Given the description of an element on the screen output the (x, y) to click on. 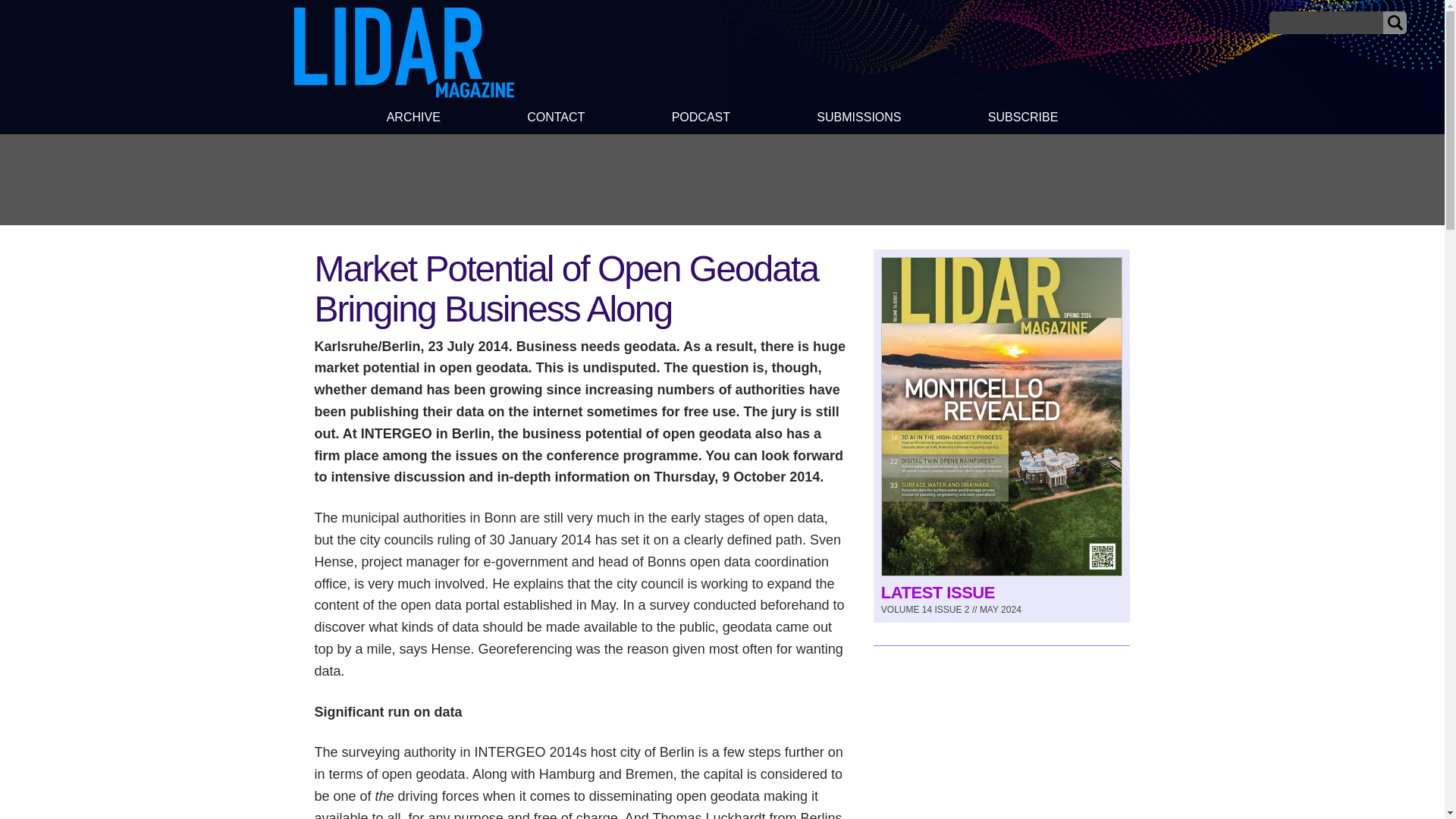
SUBMISSIONS (858, 119)
LIDAR Magazine (403, 52)
LIDAR Magazine (403, 92)
SUBSCRIBE (1023, 119)
CONTACT (555, 119)
3rd party ad content (721, 179)
Submit (1394, 22)
PODCAST (700, 119)
ARCHIVE (412, 119)
Search for: (1326, 22)
Submit (1394, 22)
Submit (1394, 22)
